Given the description of an element on the screen output the (x, y) to click on. 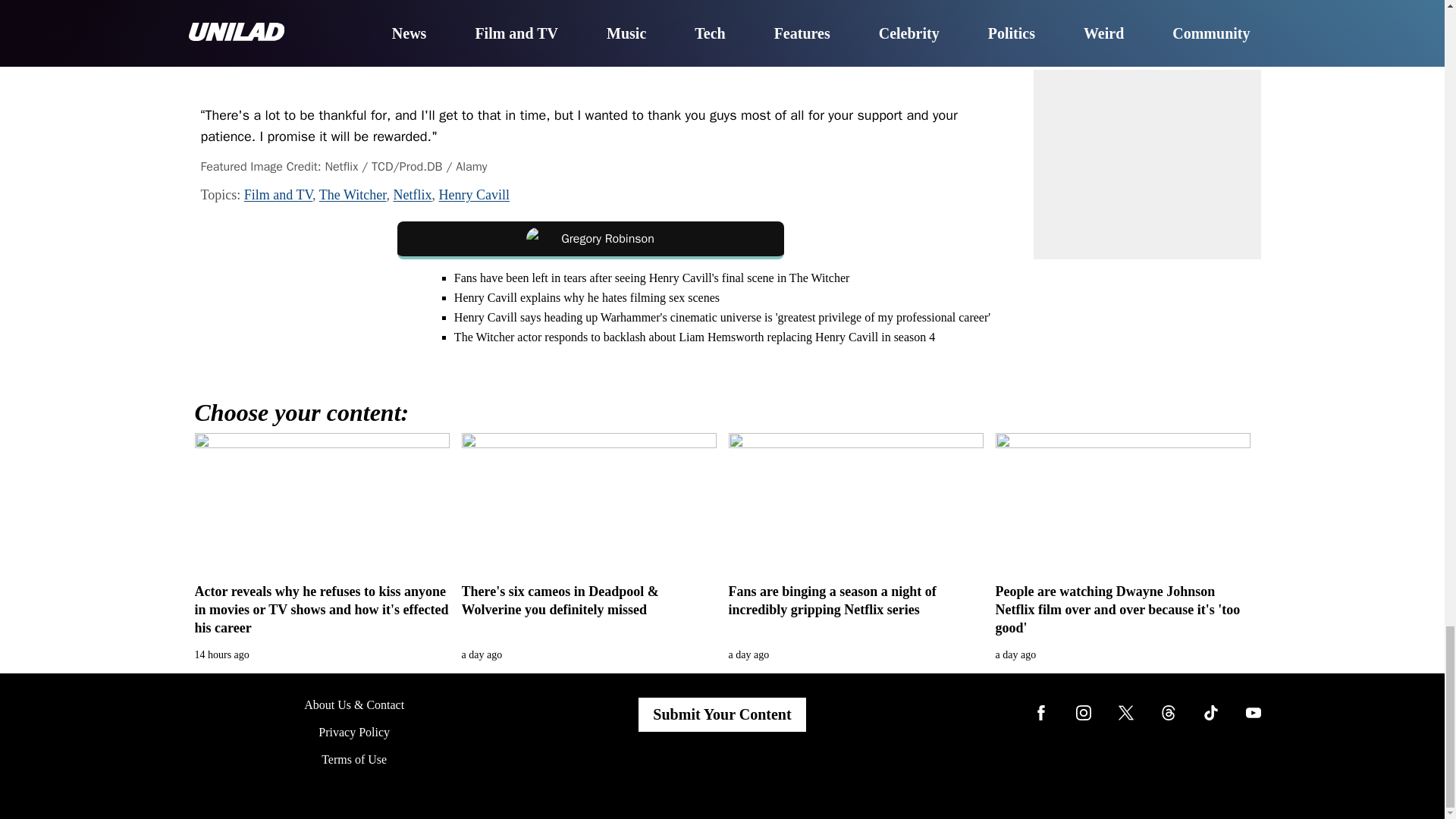
The Witcher (352, 194)
Netflix (411, 194)
Film and TV (278, 194)
Henry Cavill explains why he hates filming sex scenes (586, 297)
Henry Cavill (473, 194)
